Given the description of an element on the screen output the (x, y) to click on. 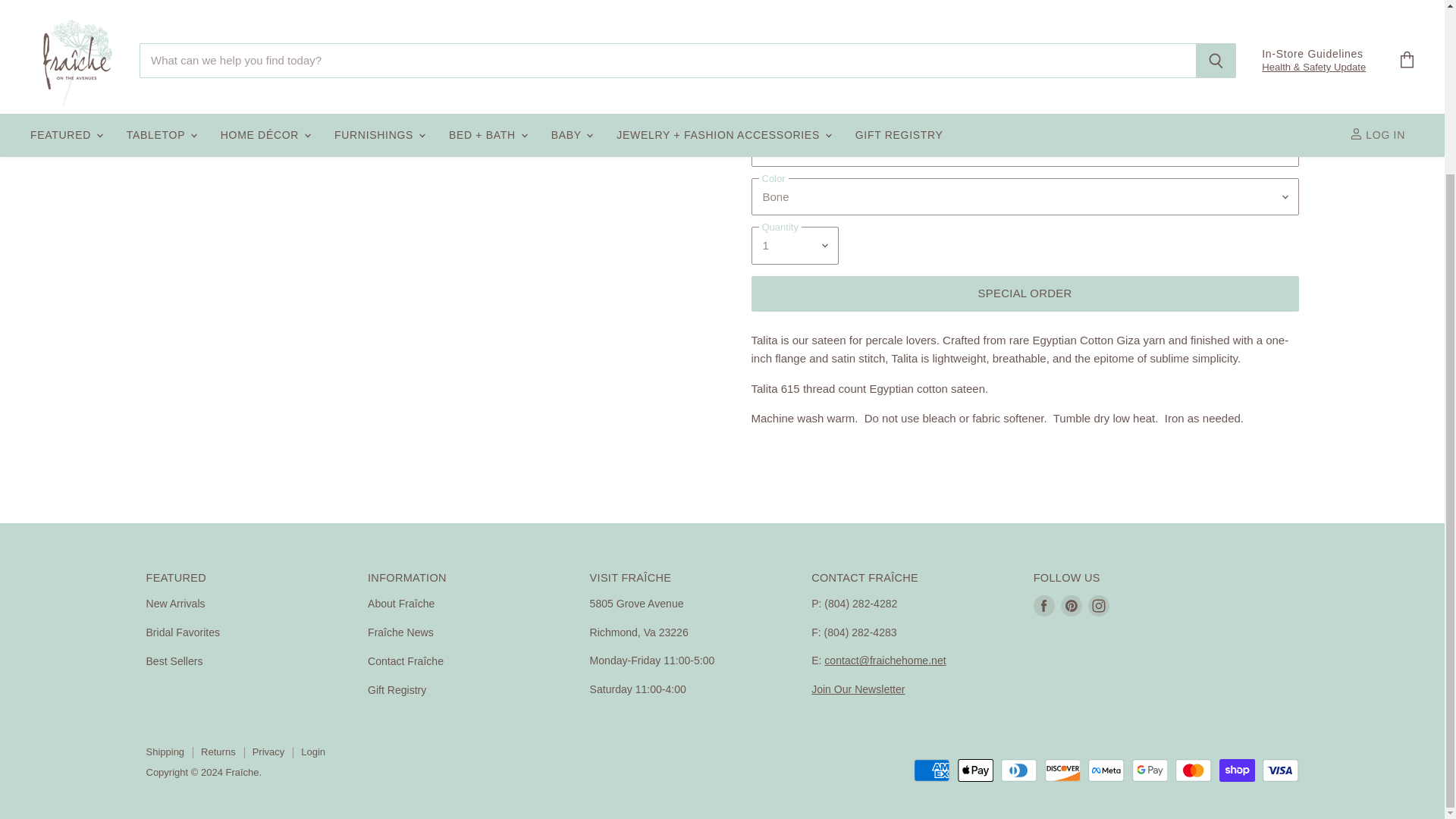
Pinterest (1071, 605)
Matouk (794, 61)
Instagram (1098, 605)
Facebook (1044, 605)
